Given the description of an element on the screen output the (x, y) to click on. 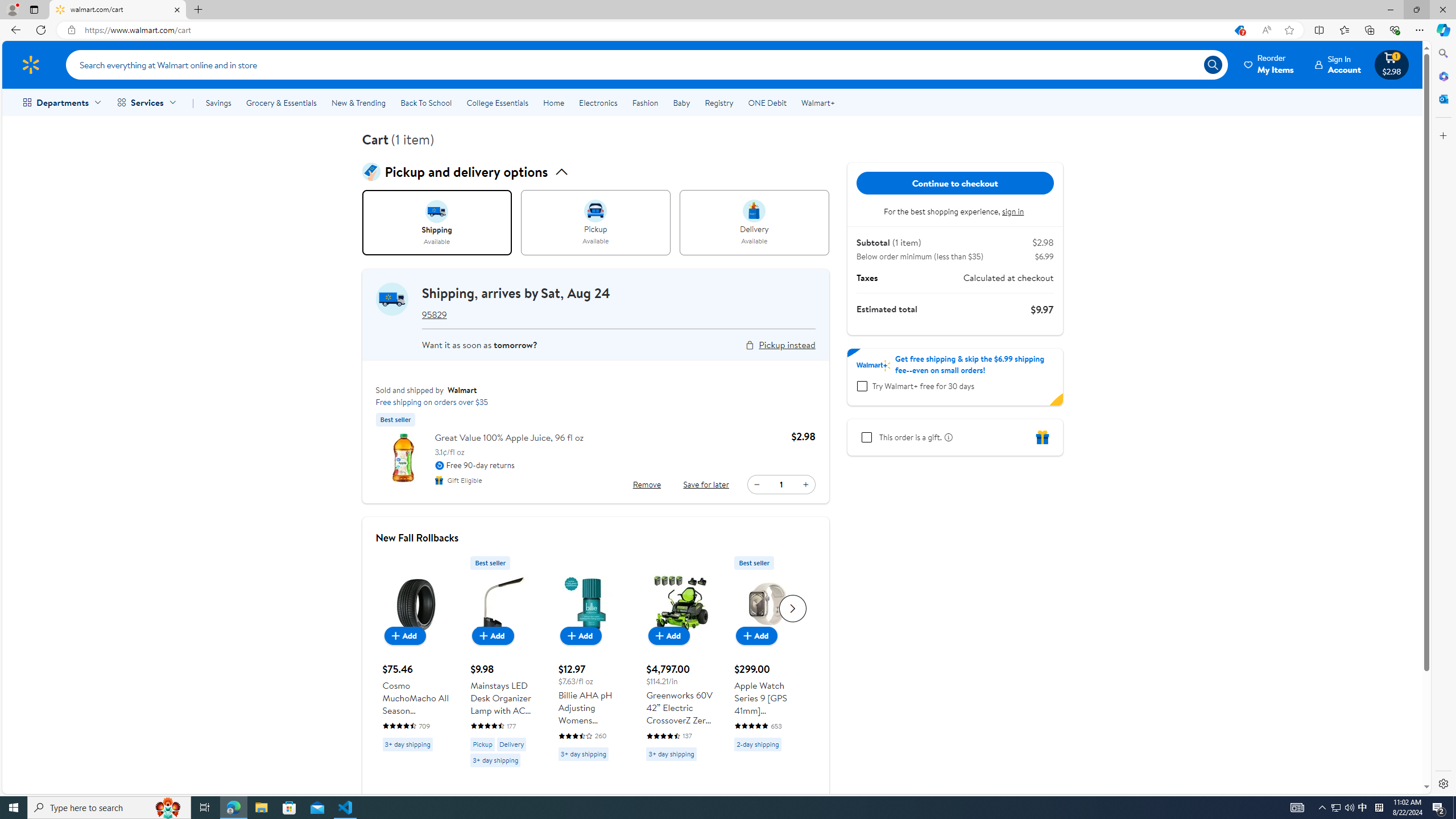
intent image for pickup (595, 210)
ReorderMy Items (1269, 64)
Savings (217, 102)
Fashion (644, 102)
Remove Great Value 100% Apple Juice, 96 fl oz (646, 484)
This site has coupons! Shopping in Microsoft Edge, 7 (1239, 29)
Back To School (425, 102)
